Given the description of an element on the screen output the (x, y) to click on. 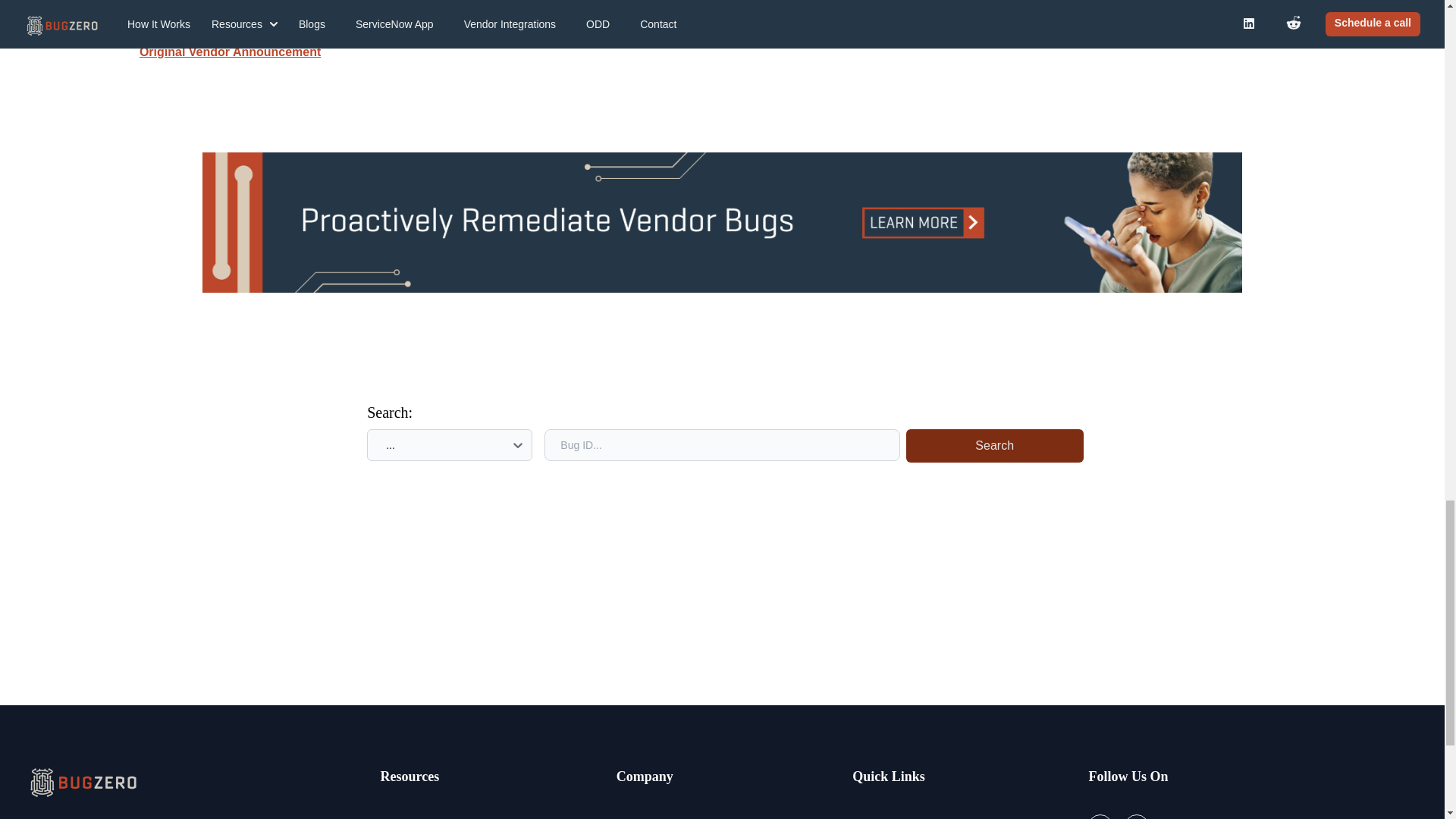
About BugZero (656, 816)
Cost Of Outages (425, 816)
ServiceNow App (895, 816)
Search (994, 445)
Original Vendor Announcement (229, 51)
Search (991, 445)
